Given the description of an element on the screen output the (x, y) to click on. 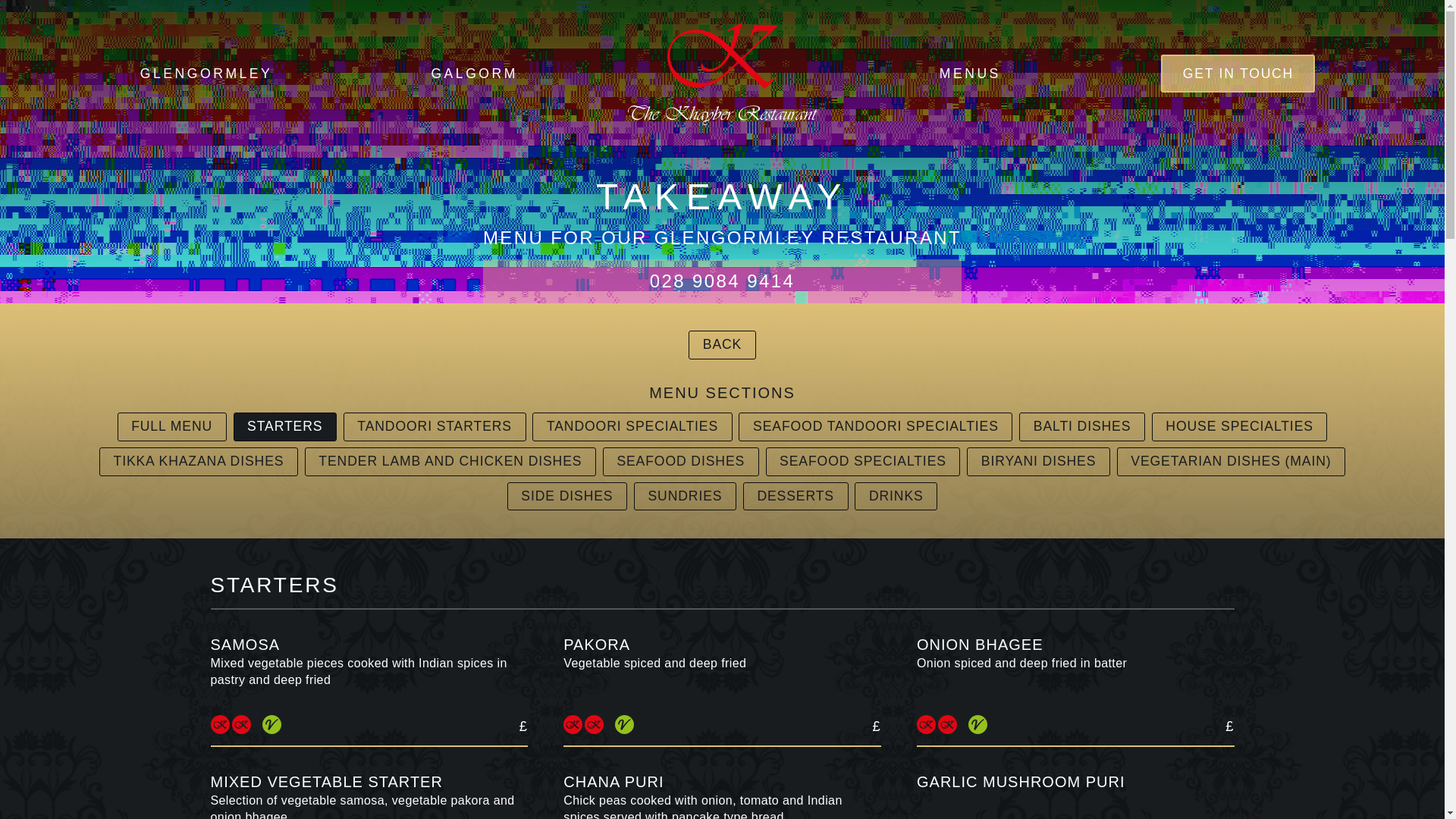
BIRYANI DISHES (1037, 461)
DESSERTS (795, 496)
HOUSE SPECIALTIES (1239, 426)
SEAFOOD DISHES (680, 461)
SEAFOOD TANDOORI SPECIALTIES (874, 426)
TIKKA KHAZANA DISHES (198, 461)
SIDE DISHES (566, 496)
SEAFOOD SPECIALTIES (862, 461)
BALTI DISHES (1081, 426)
The Khayber Restaurant (721, 73)
SUNDRIES (684, 496)
TENDER LAMB AND CHICKEN DISHES (449, 461)
STARTERS (284, 426)
DRINKS (895, 496)
The Khayber Restaurant (721, 72)
